Given the description of an element on the screen output the (x, y) to click on. 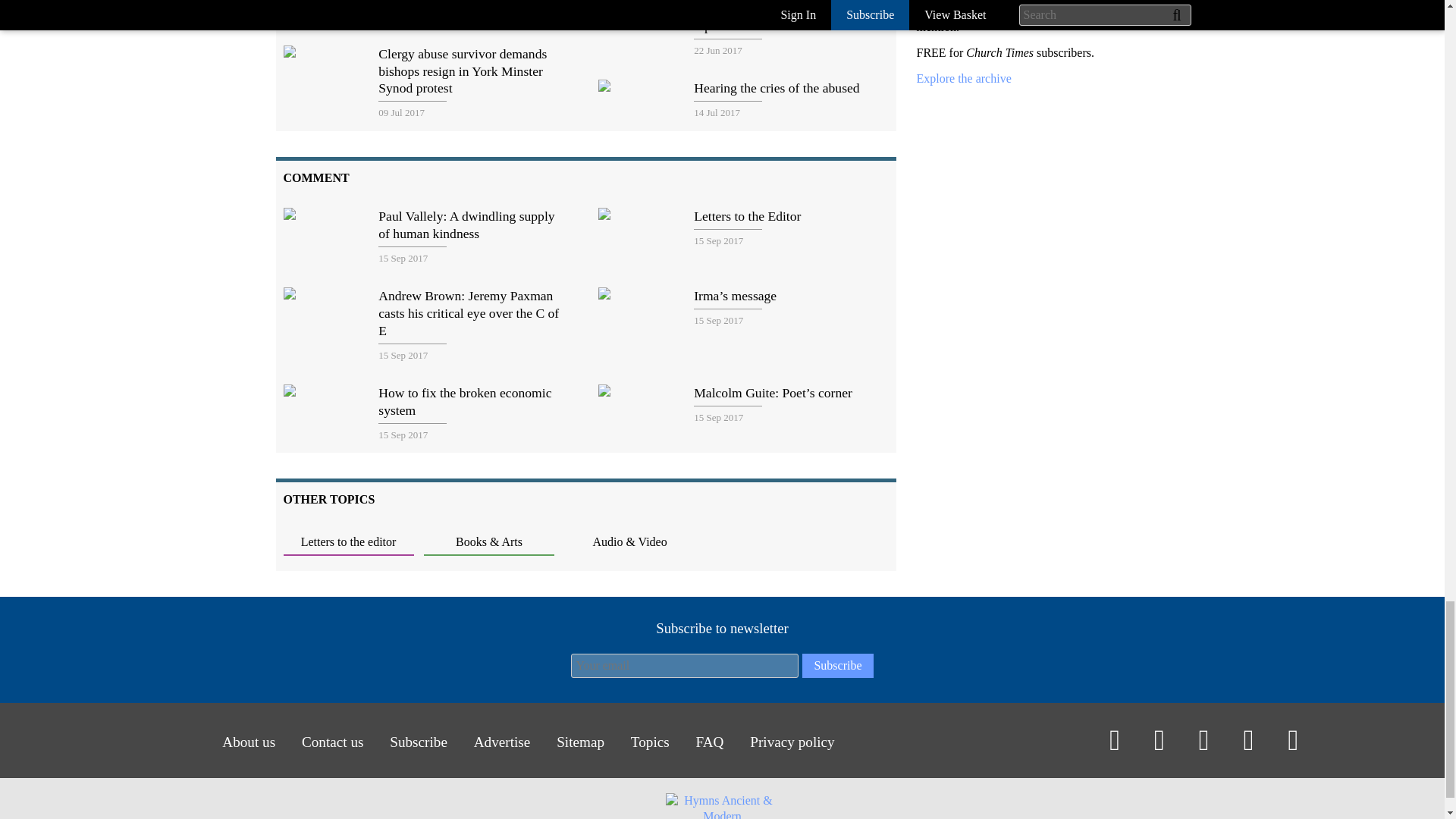
Archive (962, 78)
Subscribe (837, 665)
